Given the description of an element on the screen output the (x, y) to click on. 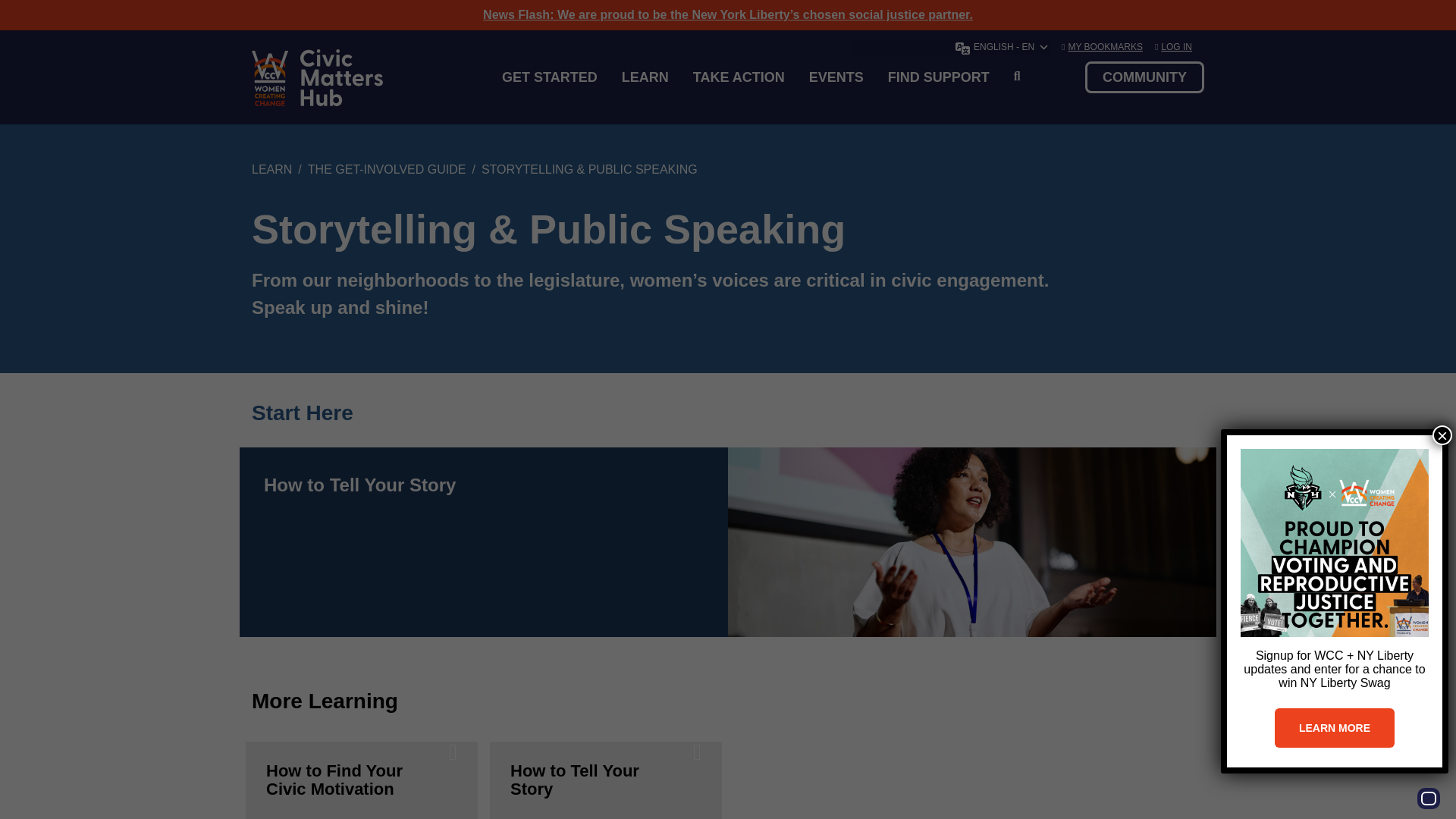
How to Find Your Civic Motivation (361, 780)
FIND SUPPORT (938, 76)
EVENTS (836, 76)
COMMUNITY (1144, 77)
GET STARTED (549, 76)
MY BOOKMARKS (1104, 46)
LEARN (645, 76)
GET STARTED (1399, 13)
EVENTS (1399, 45)
THE GET-INVOLVED GUIDE (386, 169)
How to Tell Your Story (605, 780)
TAKE ACTION (738, 76)
Accessibility Menu (1427, 798)
LOG IN (1176, 46)
